Given the description of an element on the screen output the (x, y) to click on. 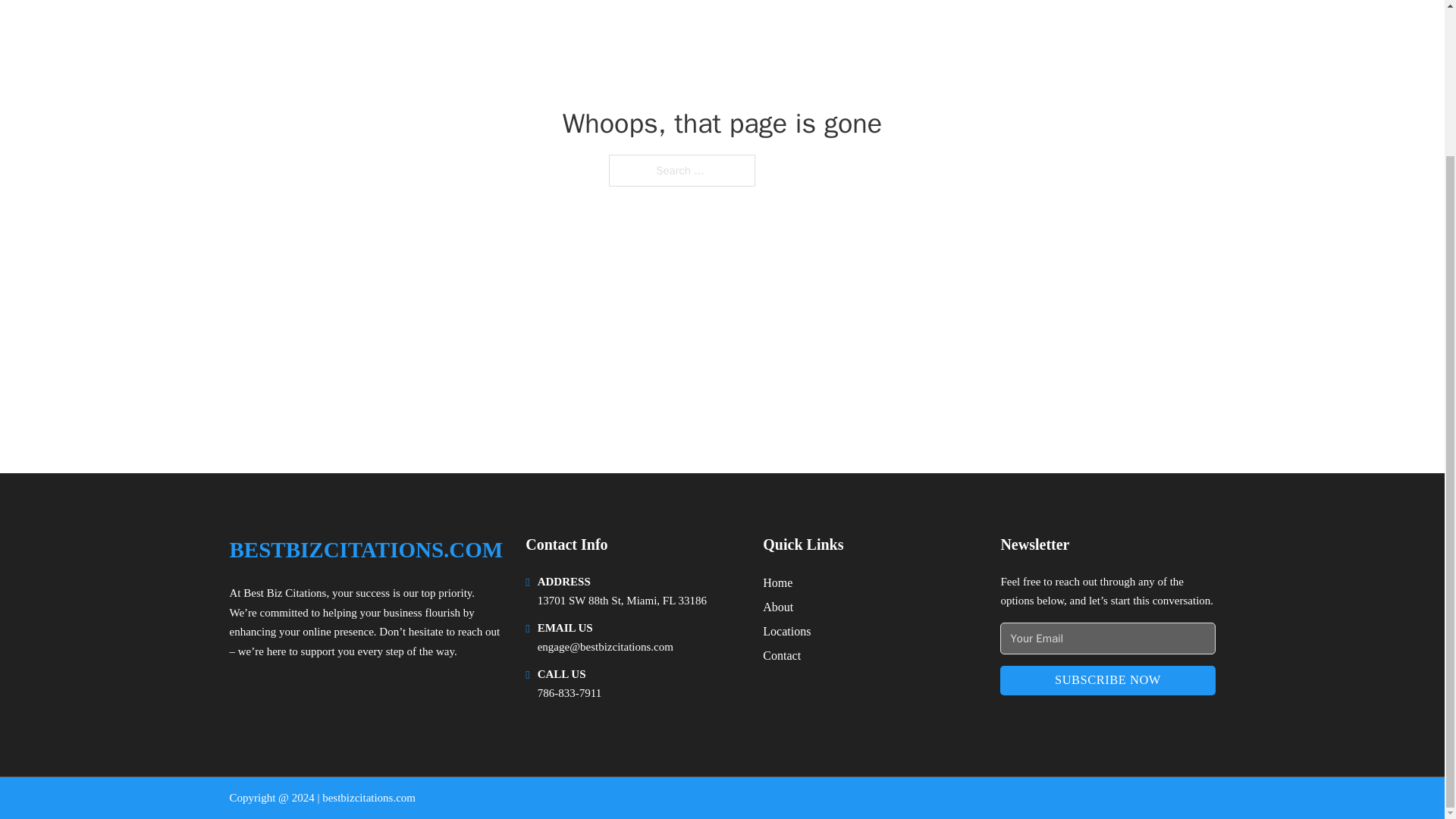
SUBSCRIBE NOW (1107, 680)
About (777, 607)
Home (777, 582)
BESTBIZCITATIONS.COM (365, 549)
786-833-7911 (569, 693)
Locations (786, 630)
Contact (781, 655)
